Given the description of an element on the screen output the (x, y) to click on. 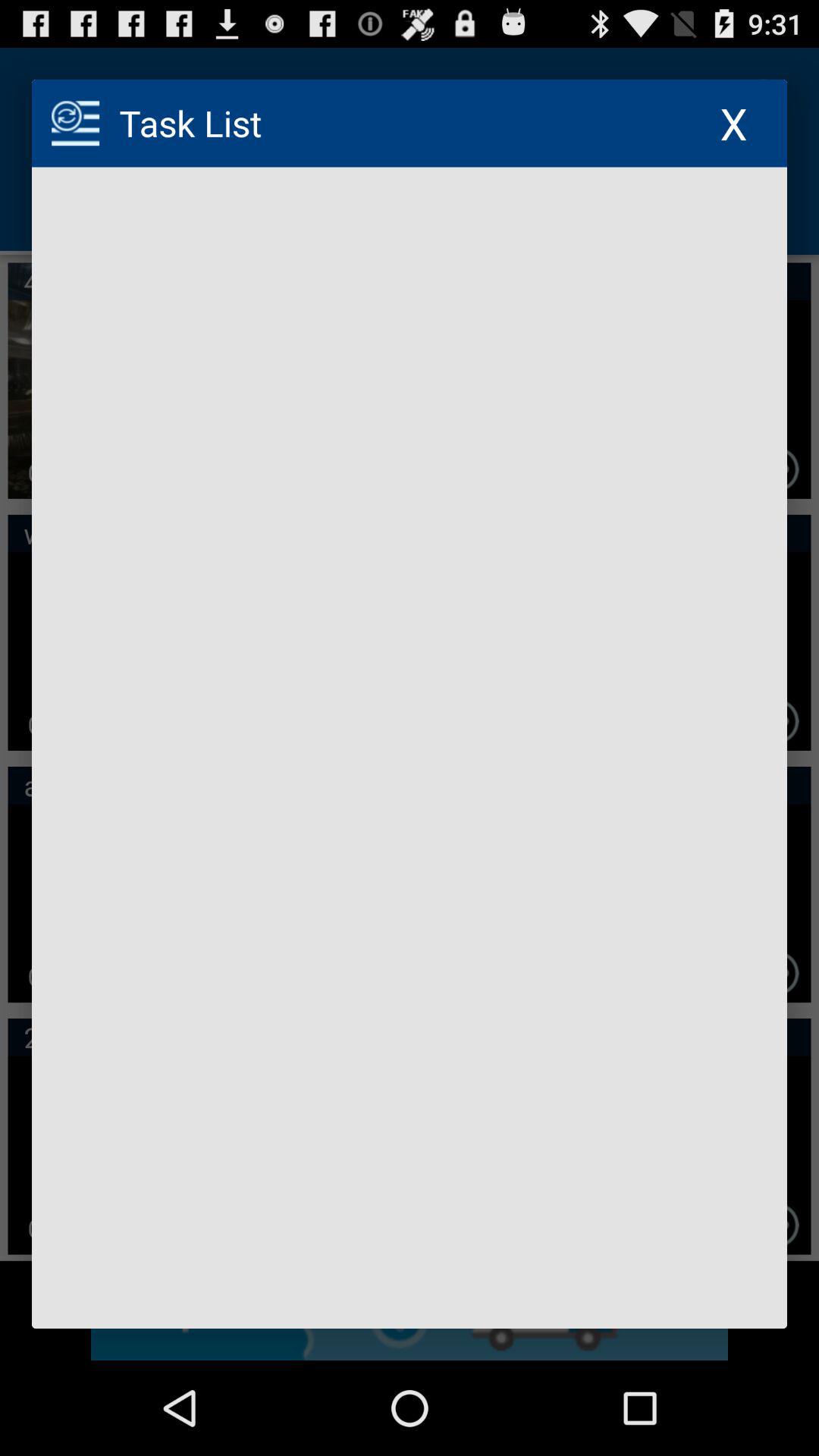
turn on icon next to the task list item (733, 123)
